Given the description of an element on the screen output the (x, y) to click on. 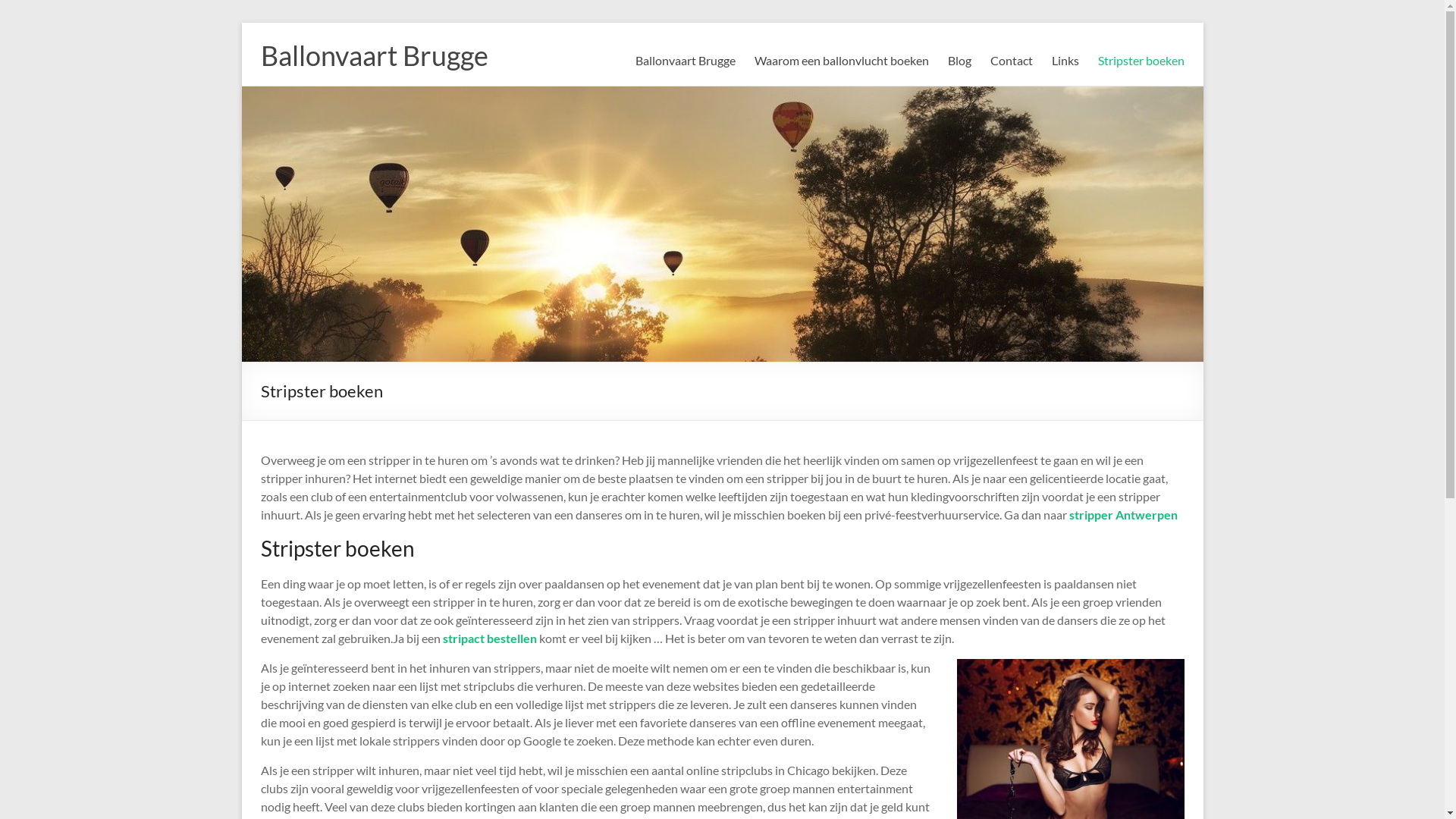
Skip to content Element type: text (241, 21)
Blog Element type: text (959, 60)
Links Element type: text (1064, 60)
Waarom een ballonvlucht boeken Element type: text (840, 60)
Ballonvaart Brugge Element type: text (685, 60)
Stripster boeken Element type: text (1141, 60)
stripact bestellen Element type: text (489, 637)
Contact Element type: text (1011, 60)
stripper Antwerpen Element type: text (1123, 514)
Ballonvaart Brugge Element type: text (374, 55)
